Given the description of an element on the screen output the (x, y) to click on. 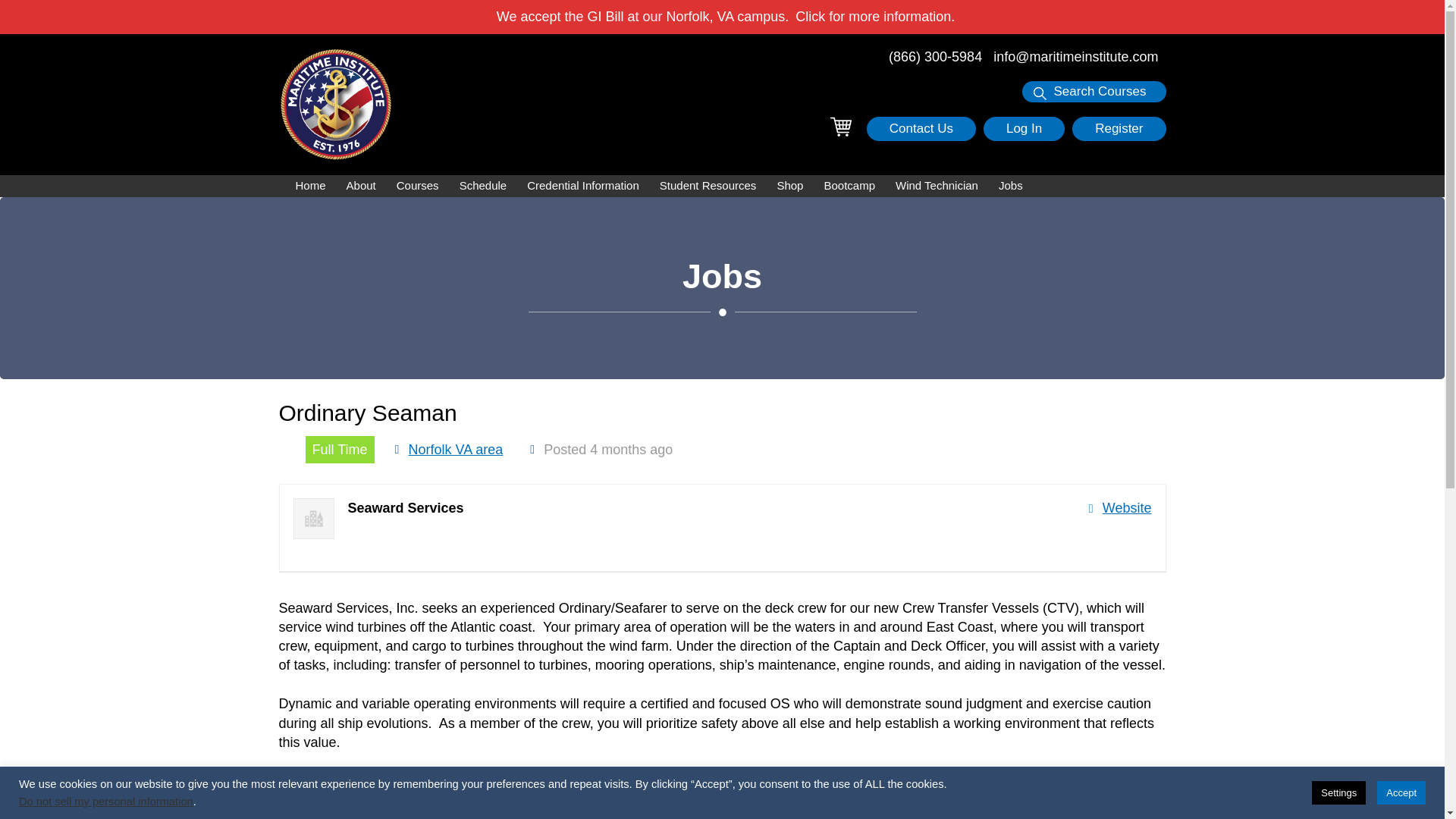
About (360, 187)
Log In (1024, 128)
Contact Us (920, 128)
Student Resources (708, 187)
Home (310, 187)
Courses (417, 187)
Register (1118, 128)
Schedule (483, 187)
Credential Information (583, 187)
